Given the description of an element on the screen output the (x, y) to click on. 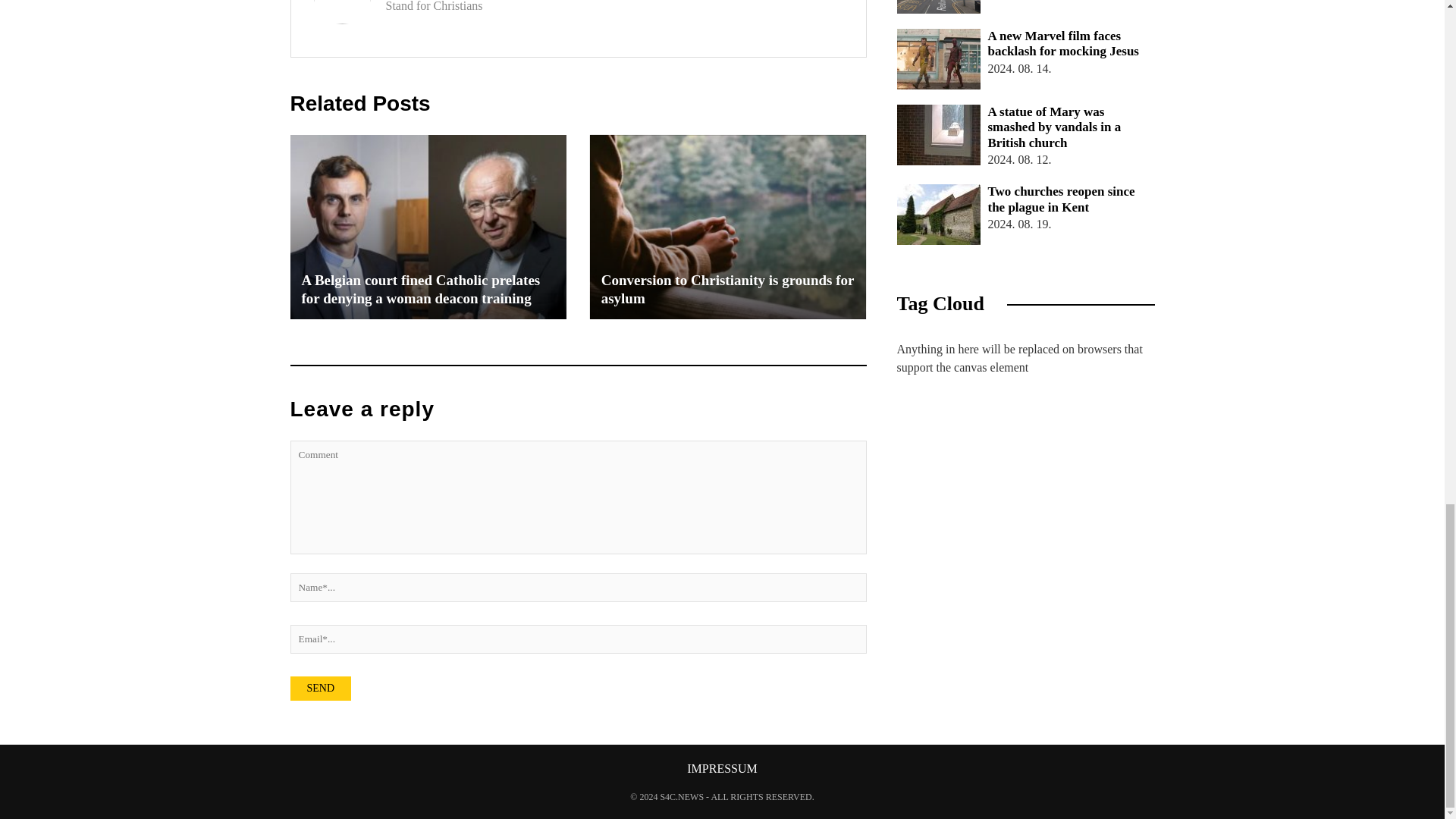
Two churches reopen since the plague in Kent (937, 214)
Send (319, 688)
A new Marvel film faces backlash for mocking Jesus (937, 58)
Send (319, 688)
Conversion to Christianity is grounds for asylum (727, 227)
Former ladies' fitness centre is going to be a megachurch (937, 6)
A statue of Mary was smashed by vandals in a British church (937, 134)
